Given the description of an element on the screen output the (x, y) to click on. 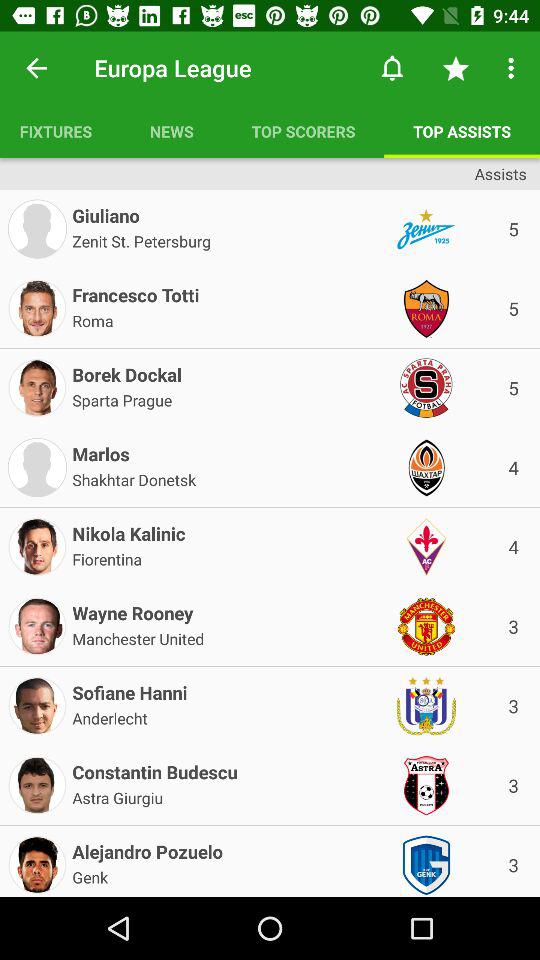
launch the icon above borek dockal icon (92, 319)
